Given the description of an element on the screen output the (x, y) to click on. 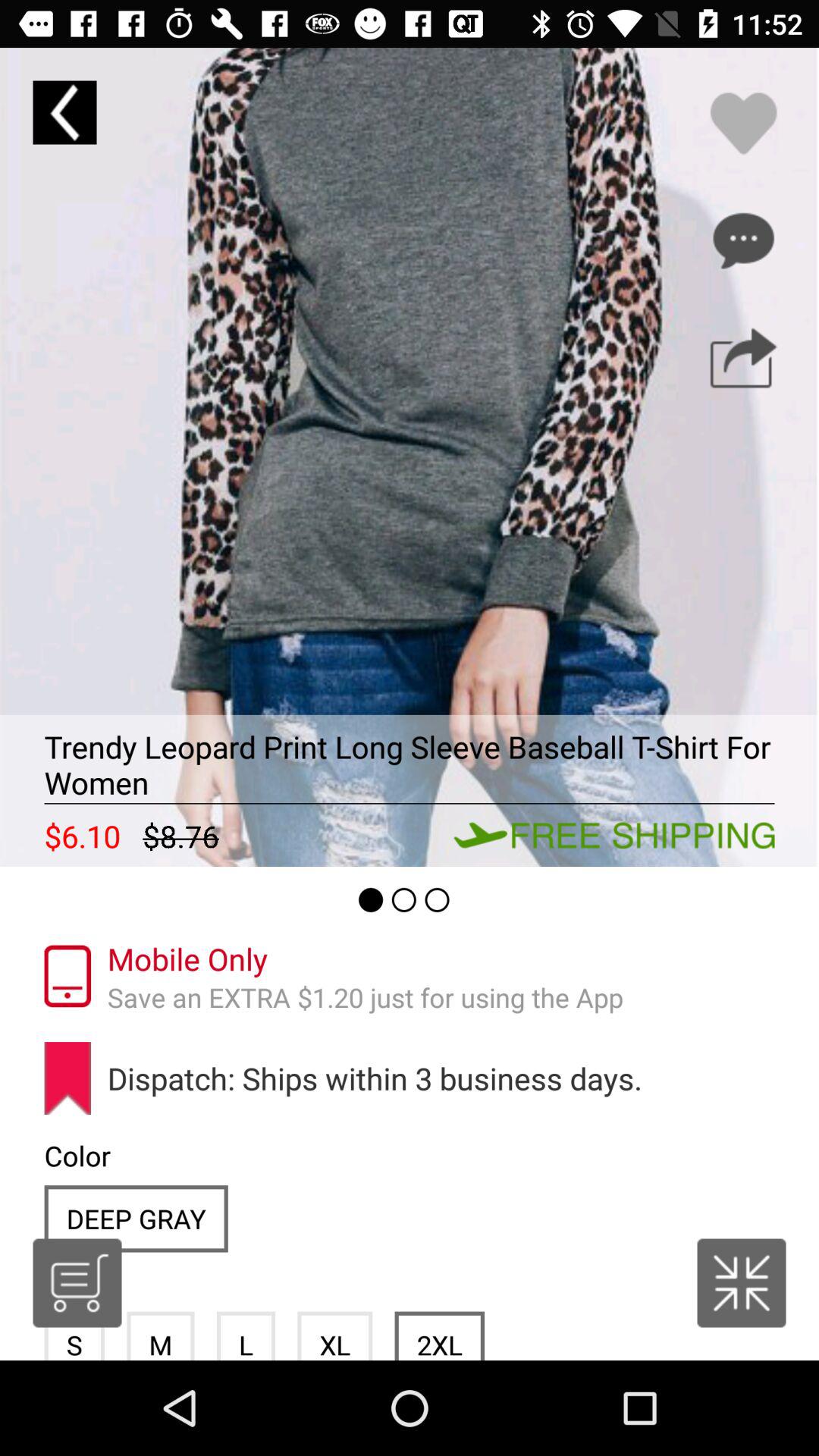
go to shopping cart (76, 1282)
